Given the description of an element on the screen output the (x, y) to click on. 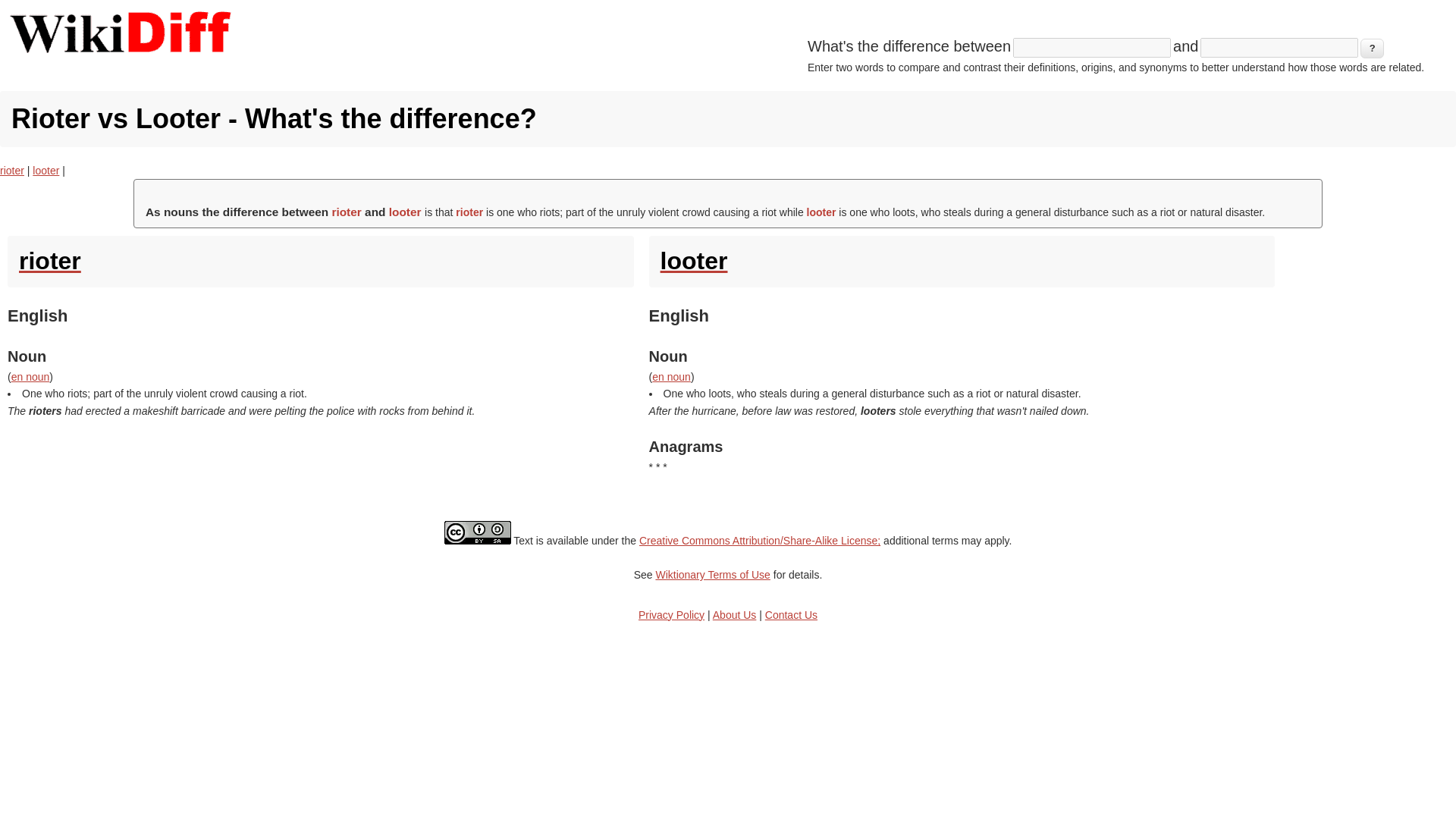
en noun (671, 377)
Contact Us (790, 614)
rioter (12, 170)
looter (45, 170)
Wiktionary Terms of Use (712, 574)
? (1371, 48)
en noun (30, 377)
About Us (735, 614)
rioter (320, 260)
looter (962, 260)
